Given the description of an element on the screen output the (x, y) to click on. 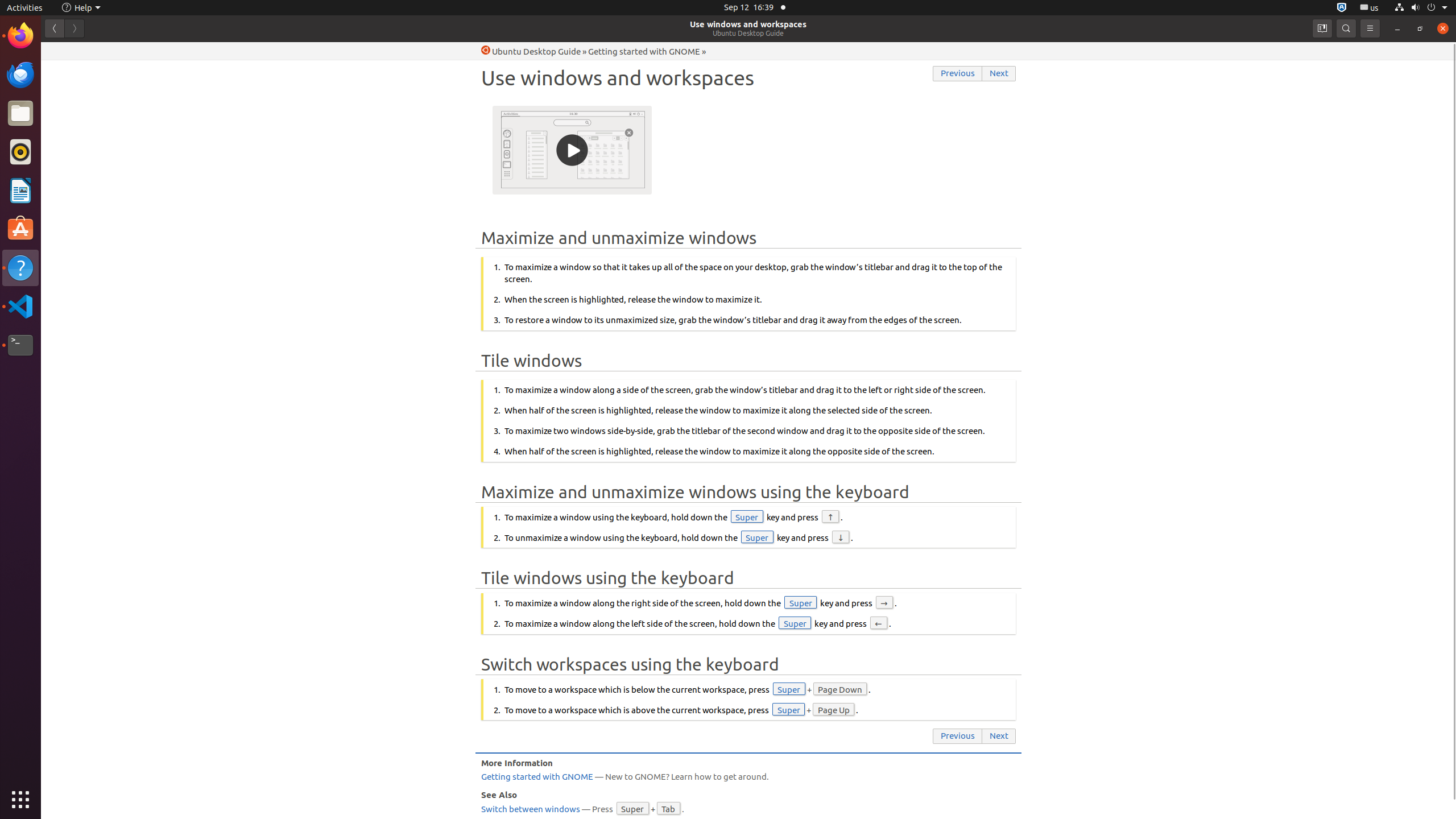
Help Ubuntu Desktop Guide Element type: link (530, 50)
